Given the description of an element on the screen output the (x, y) to click on. 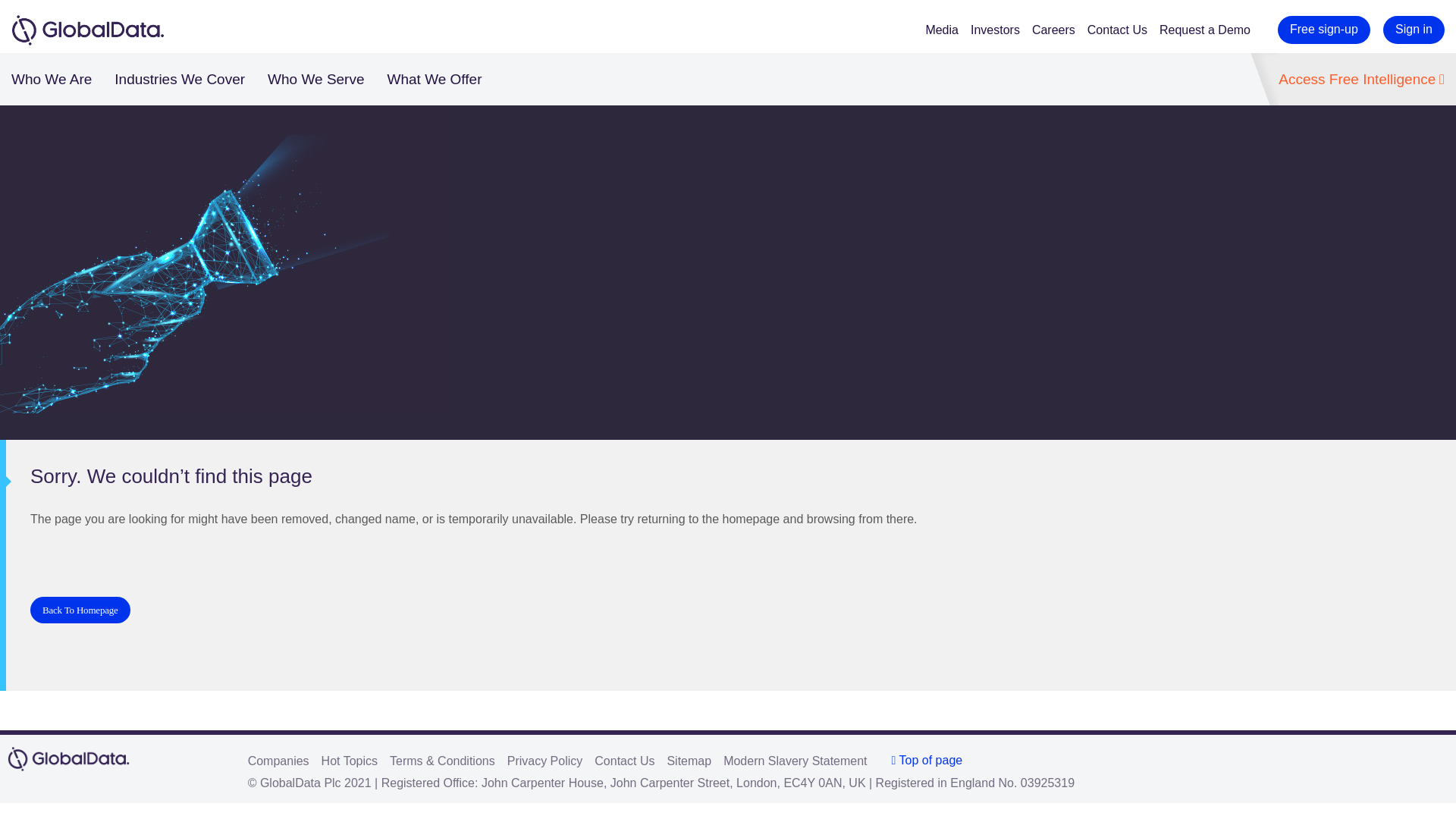
Contact Us (1122, 30)
Sign in (1413, 29)
Industries We Cover (179, 79)
Request a Demo (1210, 30)
Media (947, 30)
Careers (1059, 30)
Investors (1001, 30)
Free sign-up (1324, 29)
Who We Are (51, 79)
